Given the description of an element on the screen output the (x, y) to click on. 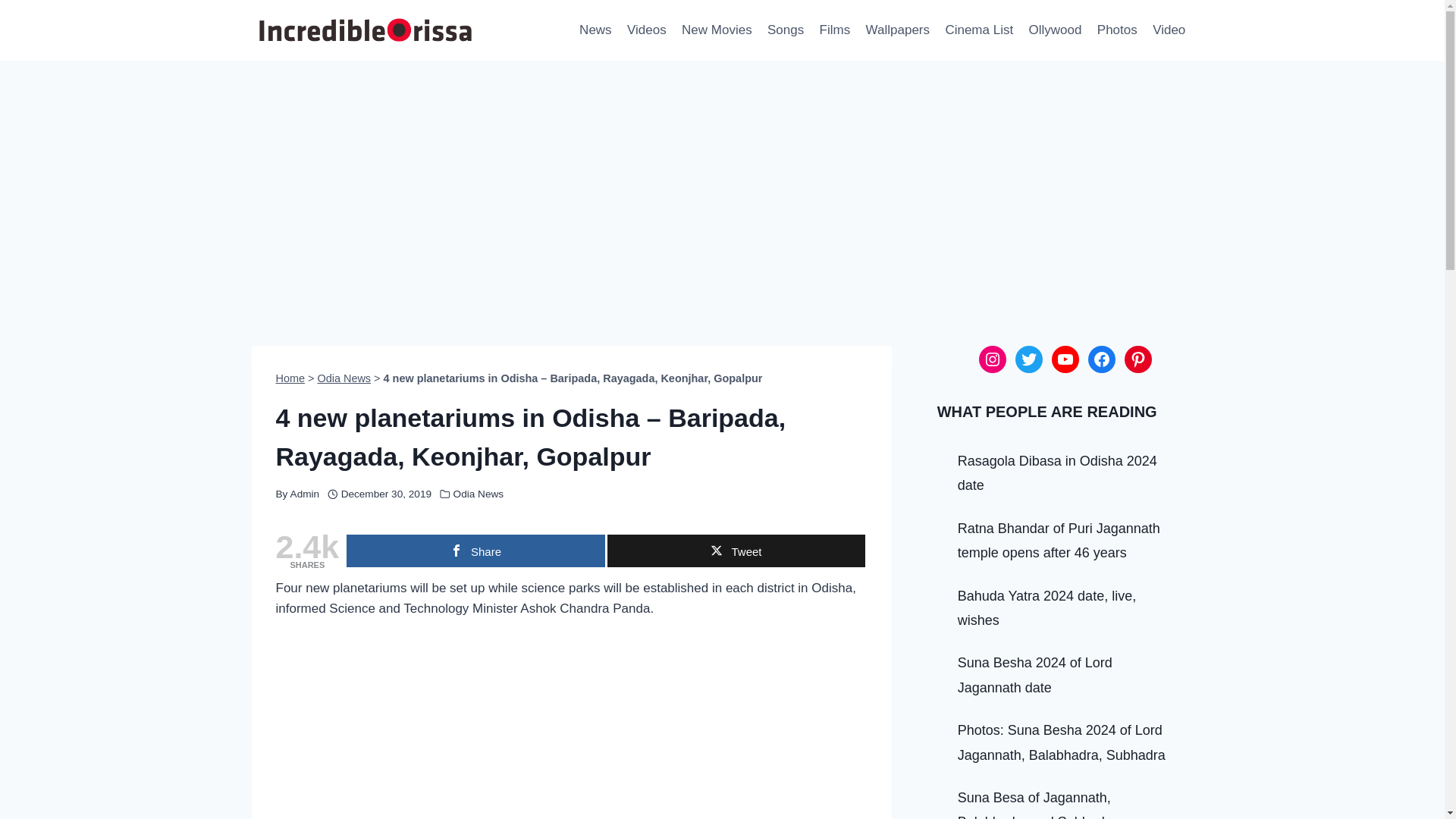
Videos (647, 30)
Share (475, 550)
Wallpapers (897, 30)
Films (833, 30)
Odia News (344, 378)
New Movies (717, 30)
Cinema List (978, 30)
Photos (1116, 30)
Songs (786, 30)
Odia News (477, 493)
Ollywood (1054, 30)
News (596, 30)
Tweet (735, 550)
Video (1168, 30)
